Given the description of an element on the screen output the (x, y) to click on. 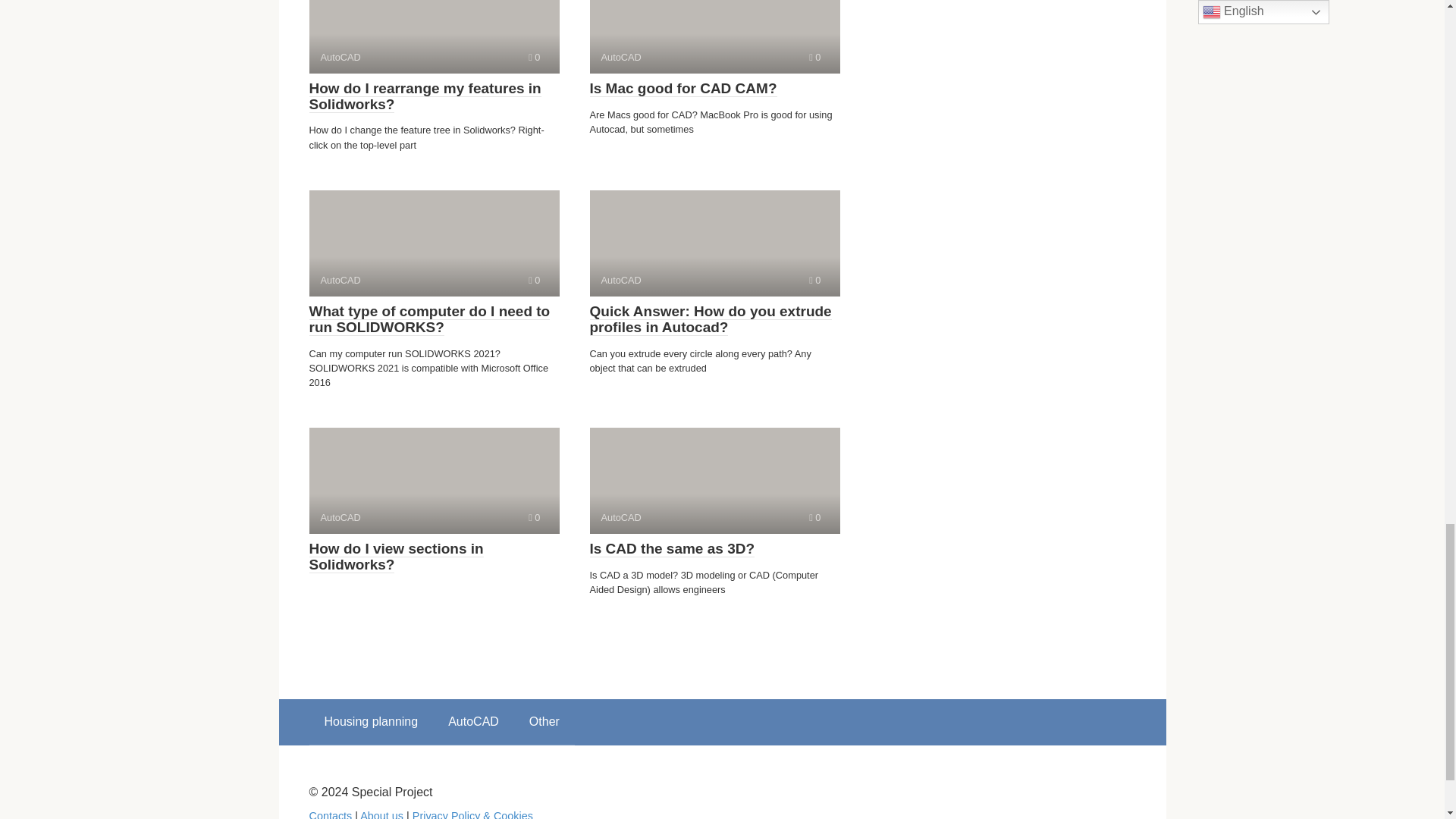
Is Mac good for CAD CAM? (683, 88)
Housing planning (370, 721)
Comments (815, 517)
How do I rearrange my features in Solidworks? (424, 96)
Comments (433, 480)
Comments (714, 480)
Is CAD the same as 3D? (815, 57)
